Given the description of an element on the screen output the (x, y) to click on. 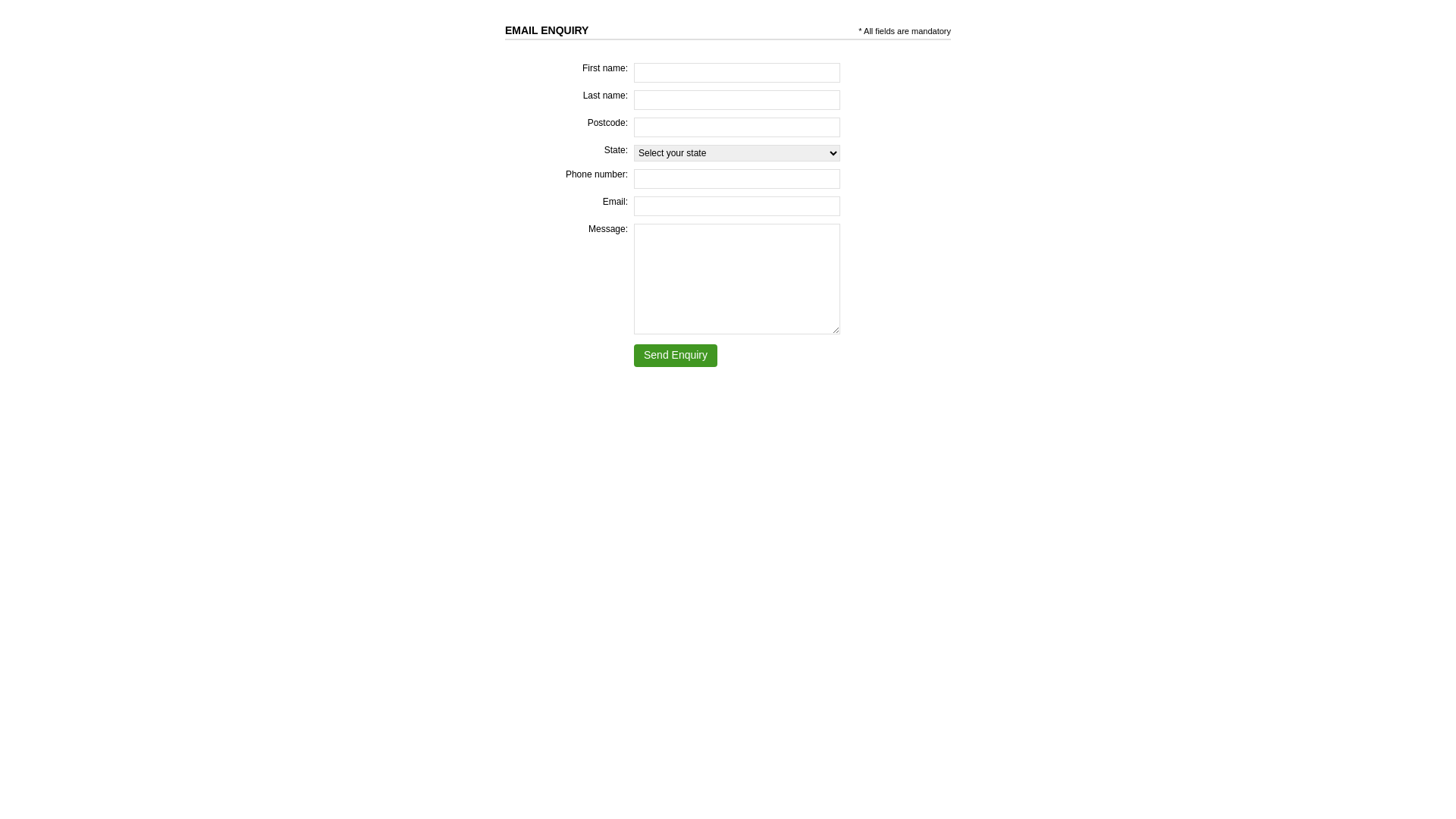
Send Enquiry Element type: text (675, 355)
  Element type: text (589, 30)
